Given the description of an element on the screen output the (x, y) to click on. 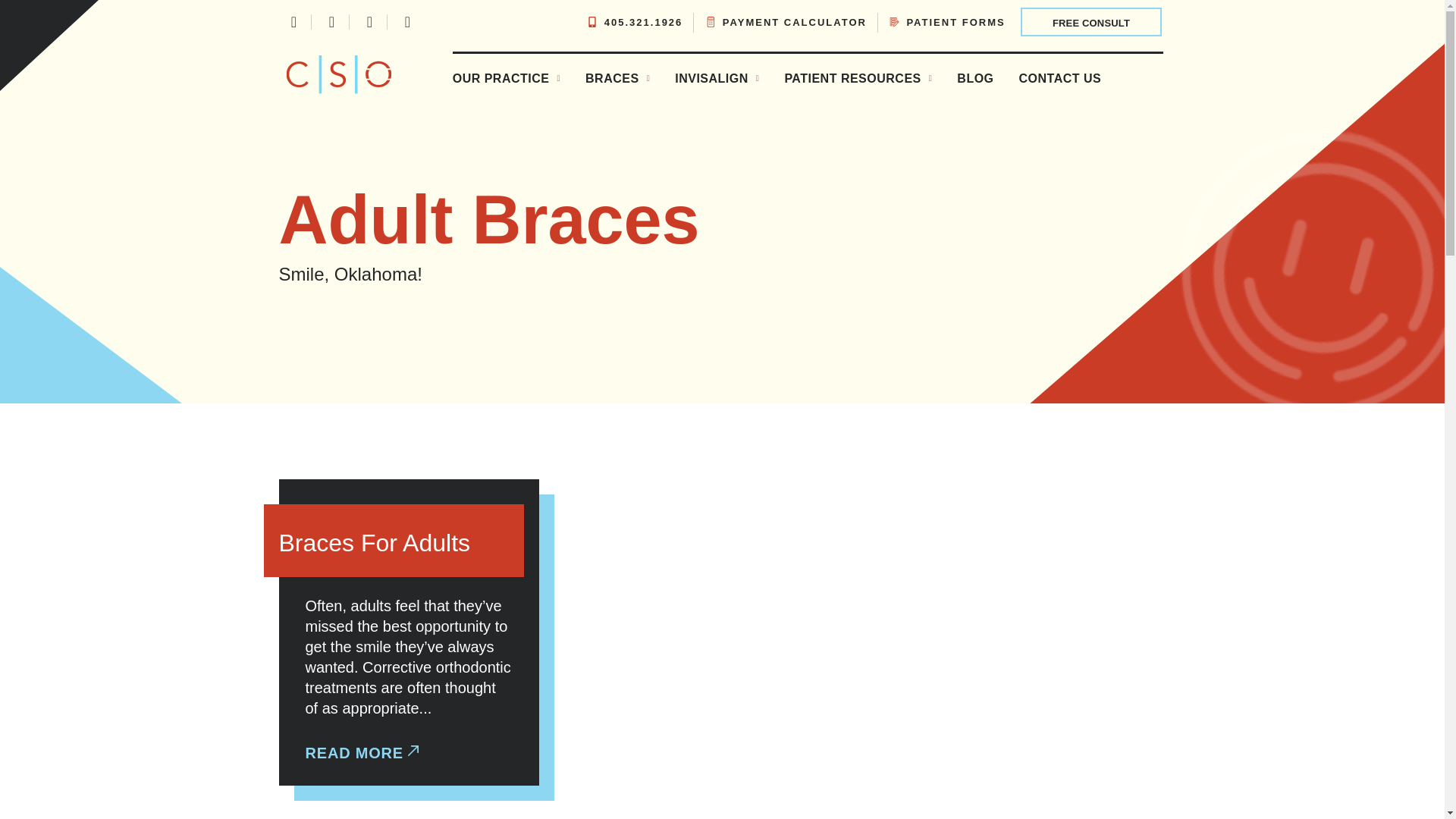
FREE CONSULT (1090, 21)
Instagram (331, 21)
Facebook-f (293, 21)
Youtube (407, 21)
BRACES (617, 78)
PATIENT FORMS (947, 21)
PAYMENT CALCULATOR (785, 21)
405.321.1926 (634, 21)
PATIENT RESOURCES (857, 78)
INVISALIGN (716, 78)
OUR PRACTICE (506, 78)
Twitter (369, 21)
